Given the description of an element on the screen output the (x, y) to click on. 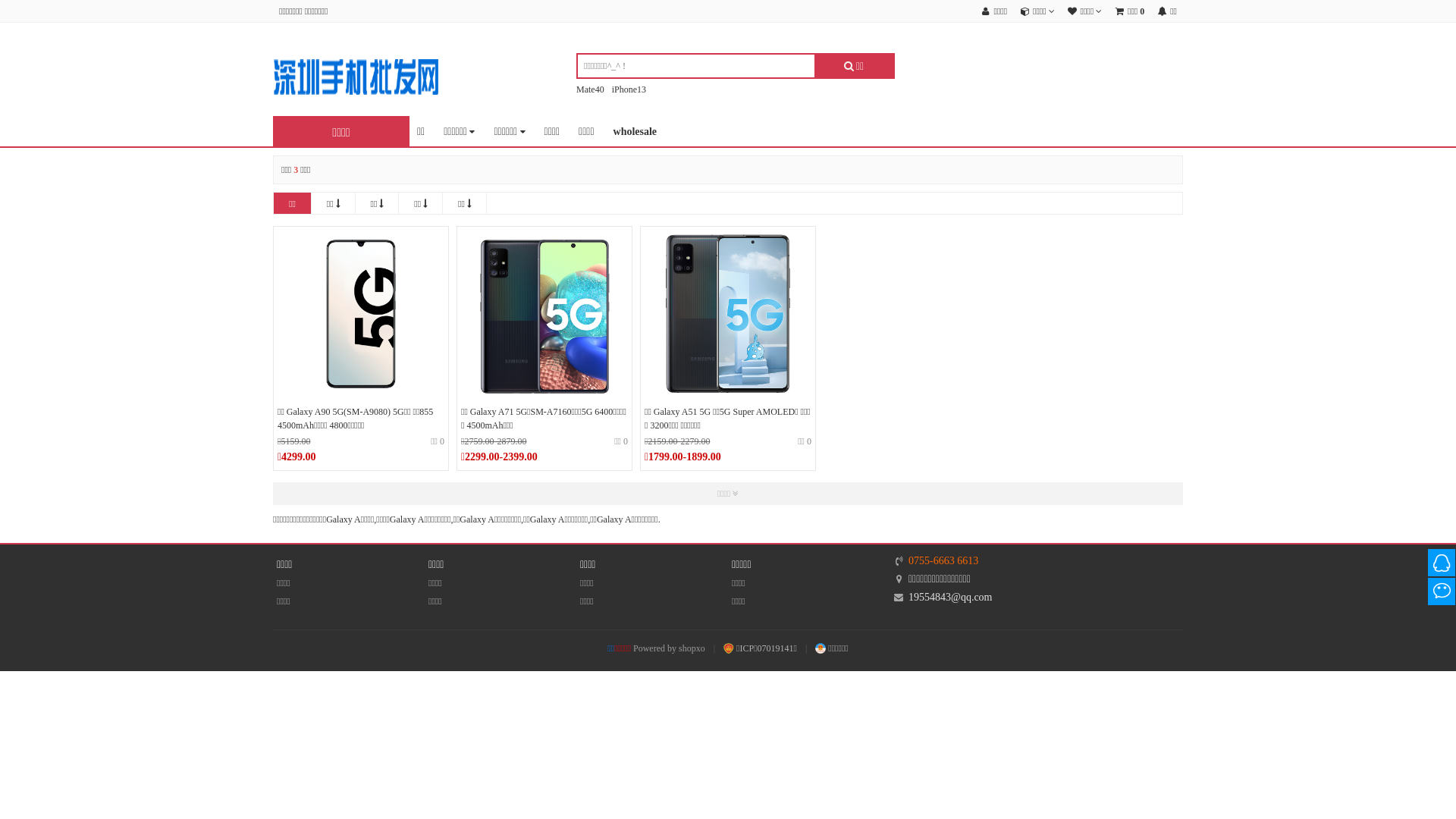
iPhone13 Element type: text (628, 89)
0755-6663 6613 Element type: text (943, 560)
wholesale Element type: text (635, 131)
Mate40 Element type: text (590, 89)
